Given the description of an element on the screen output the (x, y) to click on. 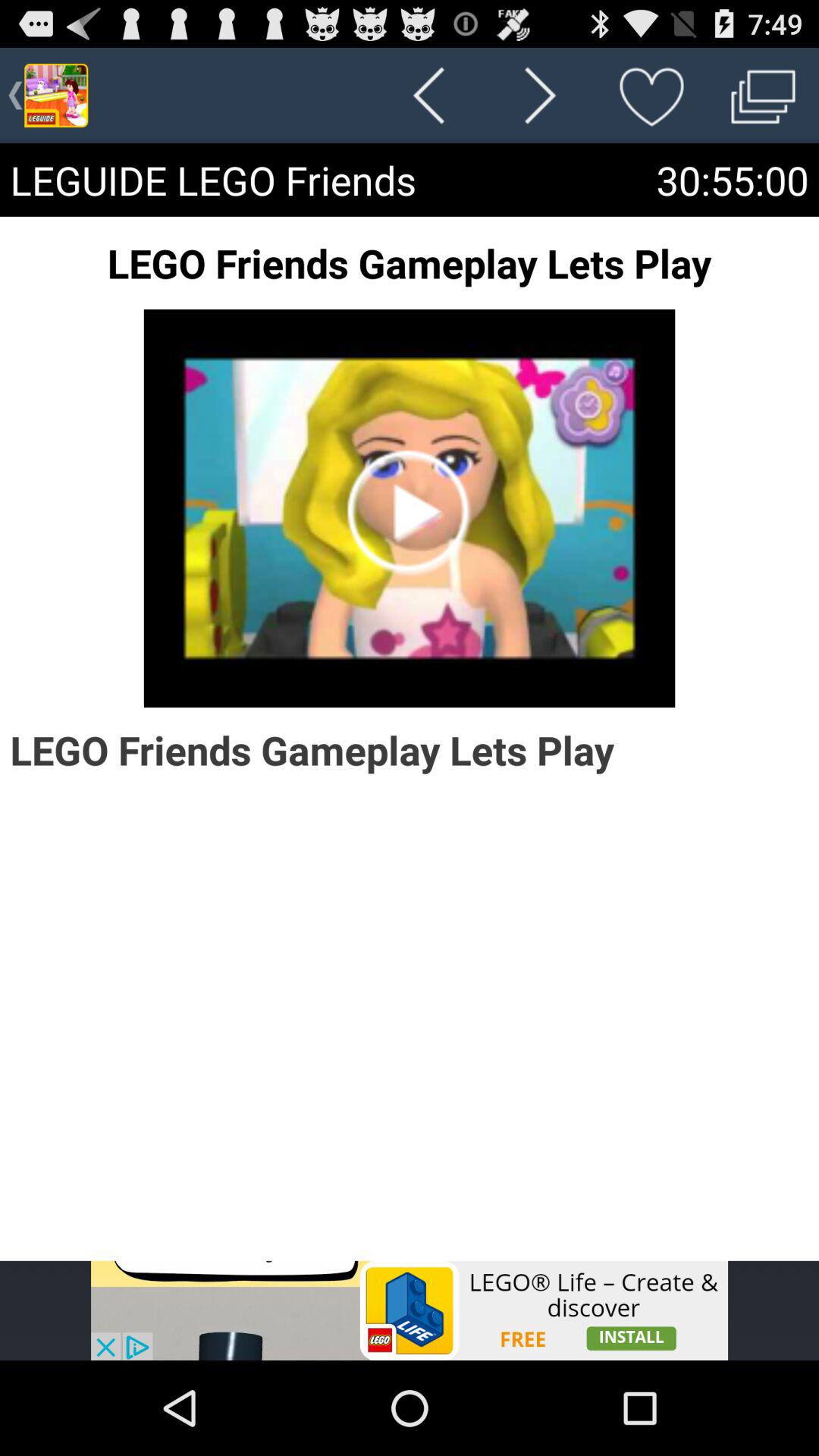
advertisement display screen (409, 1310)
